Given the description of an element on the screen output the (x, y) to click on. 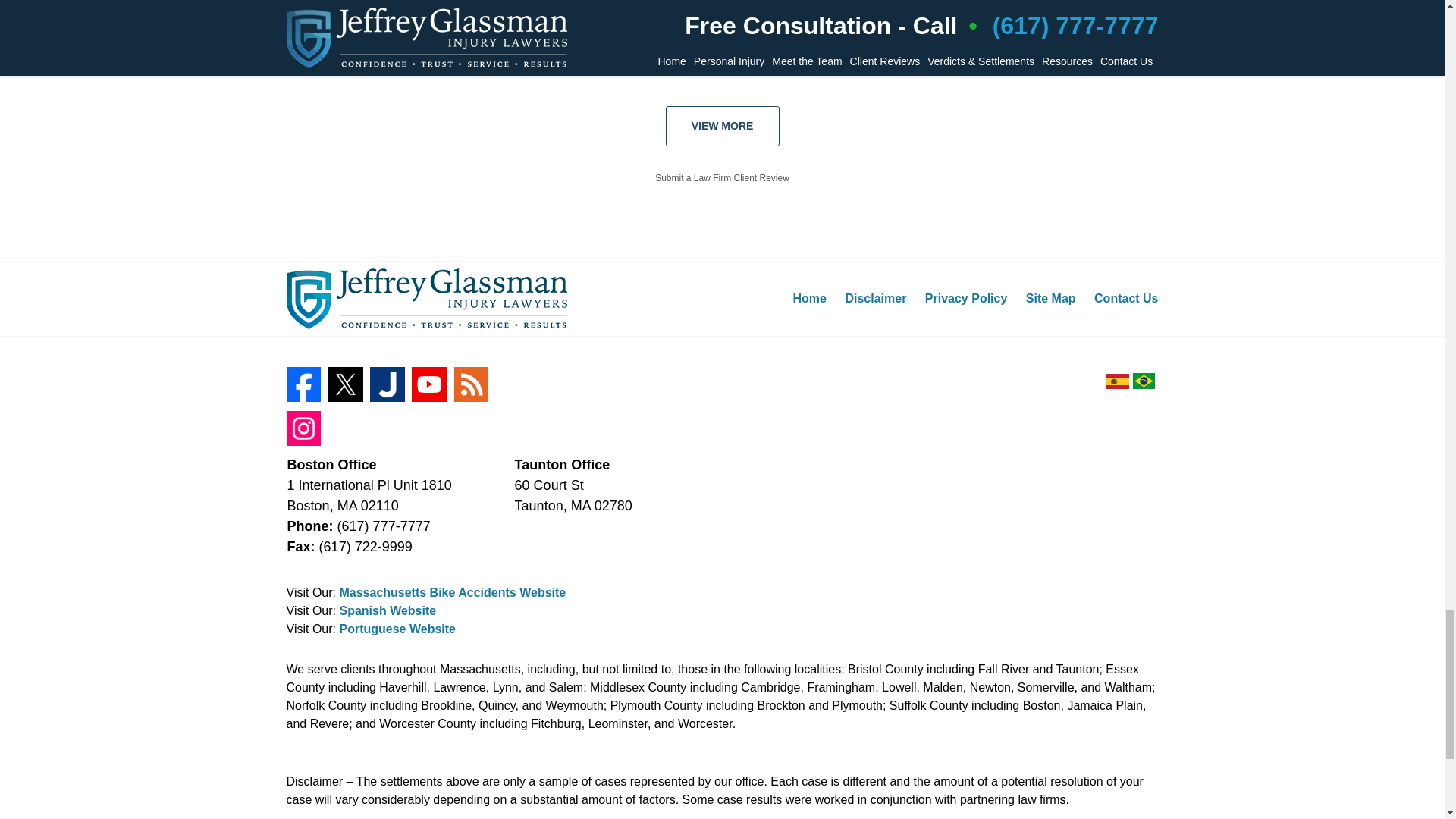
Instagram (303, 428)
Facebook (303, 384)
Twitter (345, 384)
Feed (471, 384)
YouTube (429, 384)
Justia (386, 384)
